Given the description of an element on the screen output the (x, y) to click on. 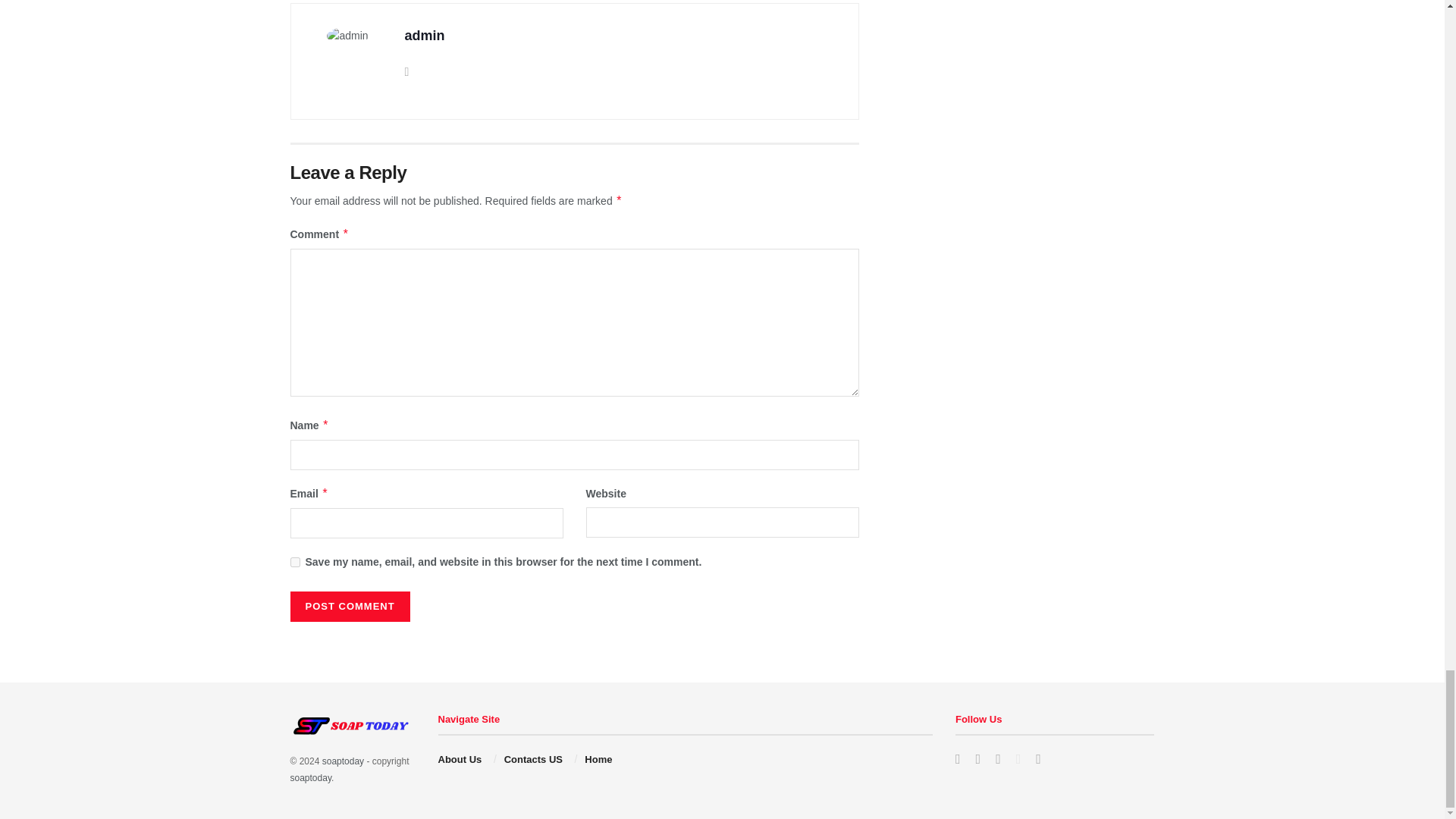
yes (294, 562)
Post Comment (349, 606)
soaptoday (310, 777)
